Given the description of an element on the screen output the (x, y) to click on. 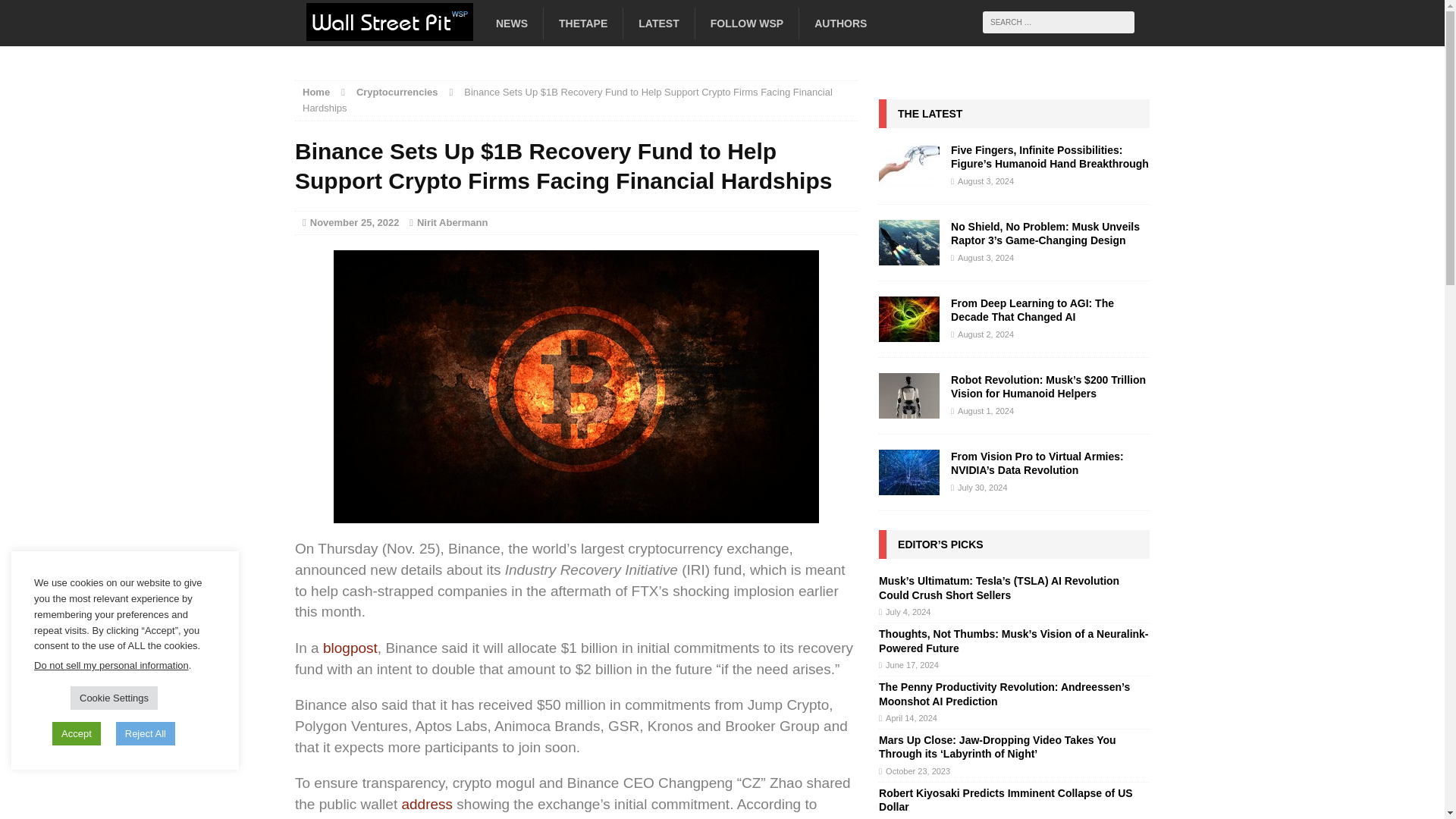
THETAPE (583, 23)
From Deep Learning to AGI: The Decade That Changed AI (909, 333)
Wall Street Pit (427, 28)
LATEST (658, 23)
NEWS (511, 23)
